Given the description of an element on the screen output the (x, y) to click on. 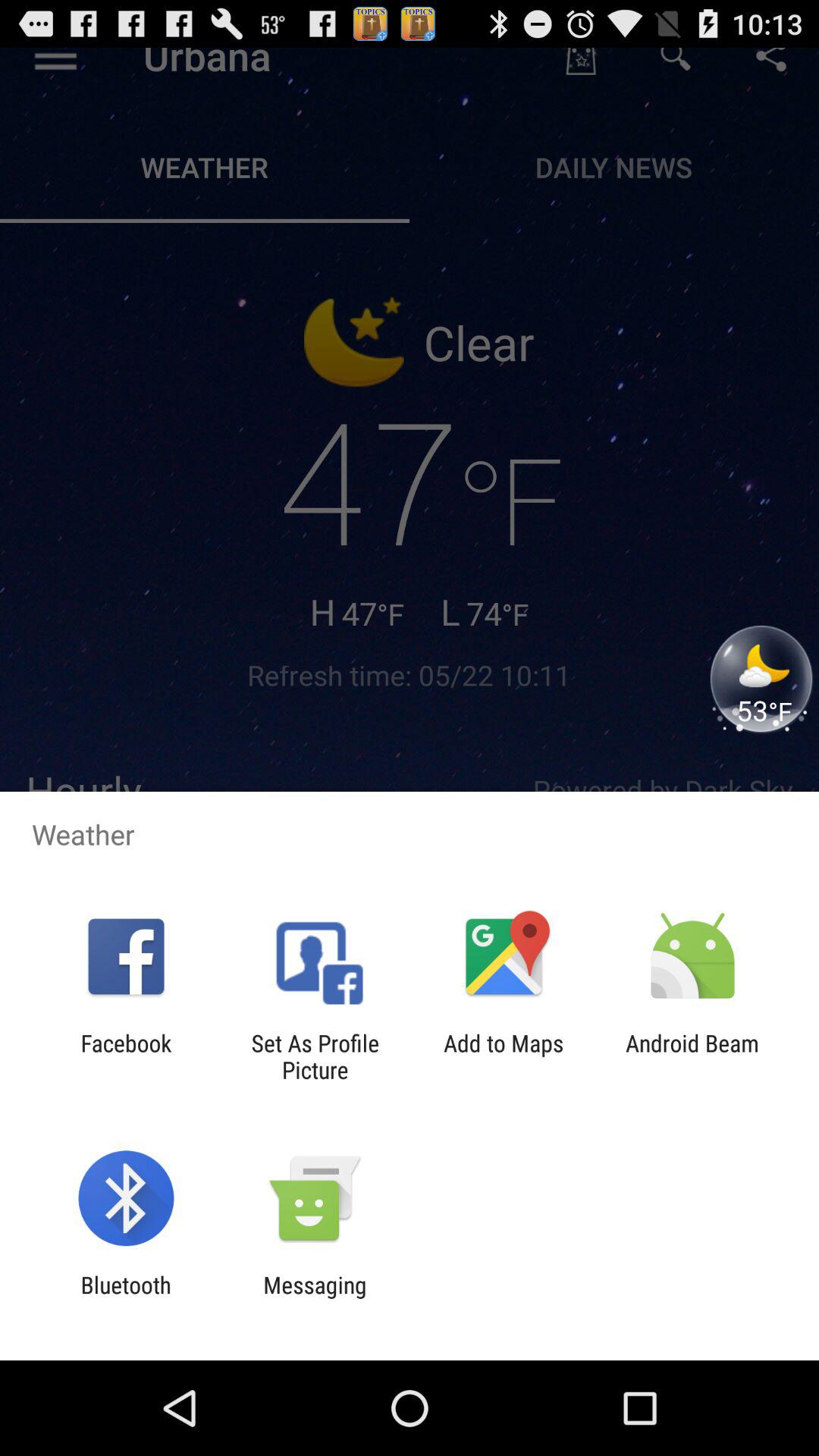
tap messaging app (314, 1298)
